Given the description of an element on the screen output the (x, y) to click on. 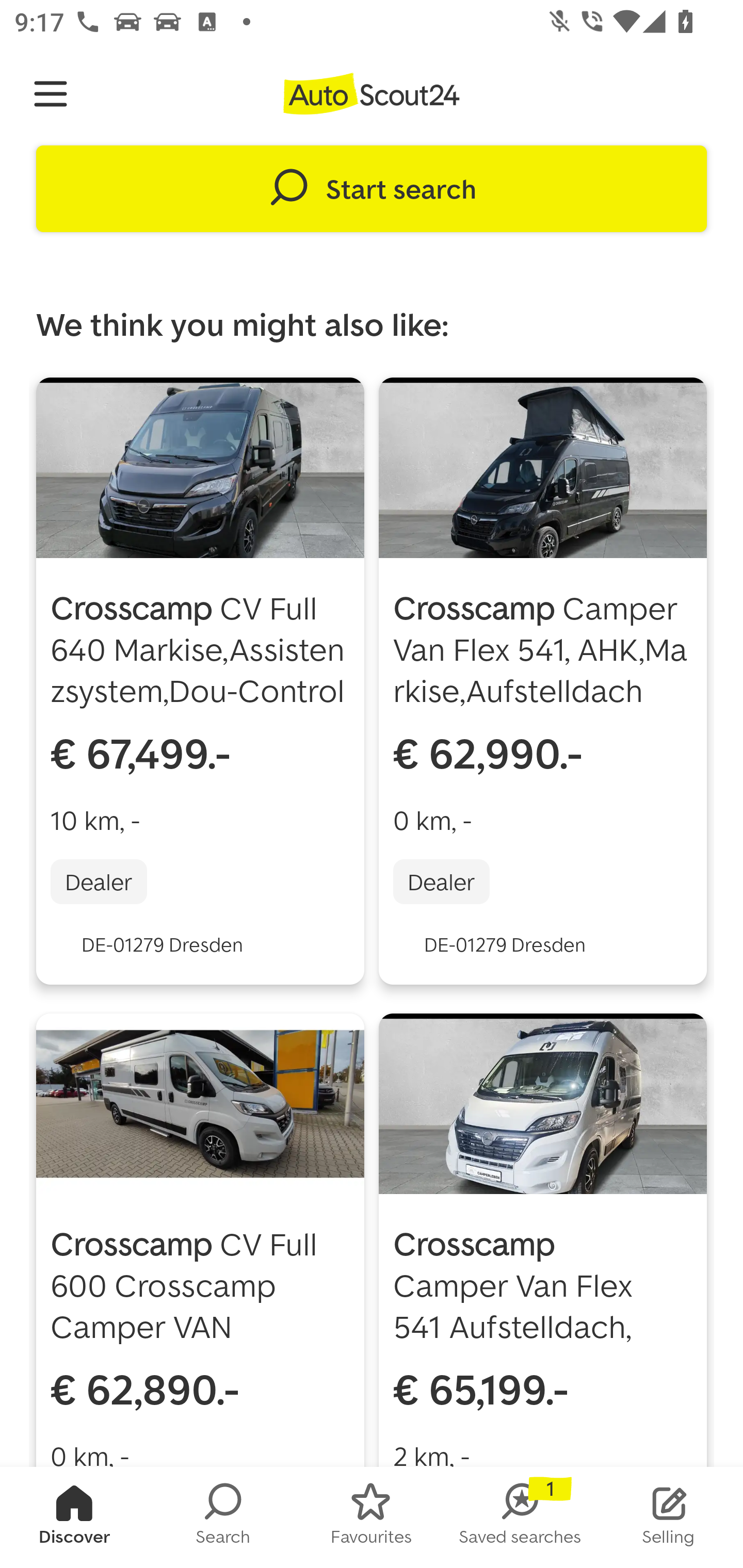
Navigate up (50, 93)
Start search (371, 188)
HOMESCREEN Discover (74, 1517)
SEARCH Search (222, 1517)
FAVORITES Favourites (371, 1517)
SAVED_SEARCHES Saved searches 1 (519, 1517)
STOCK_LIST Selling (668, 1517)
